Given the description of an element on the screen output the (x, y) to click on. 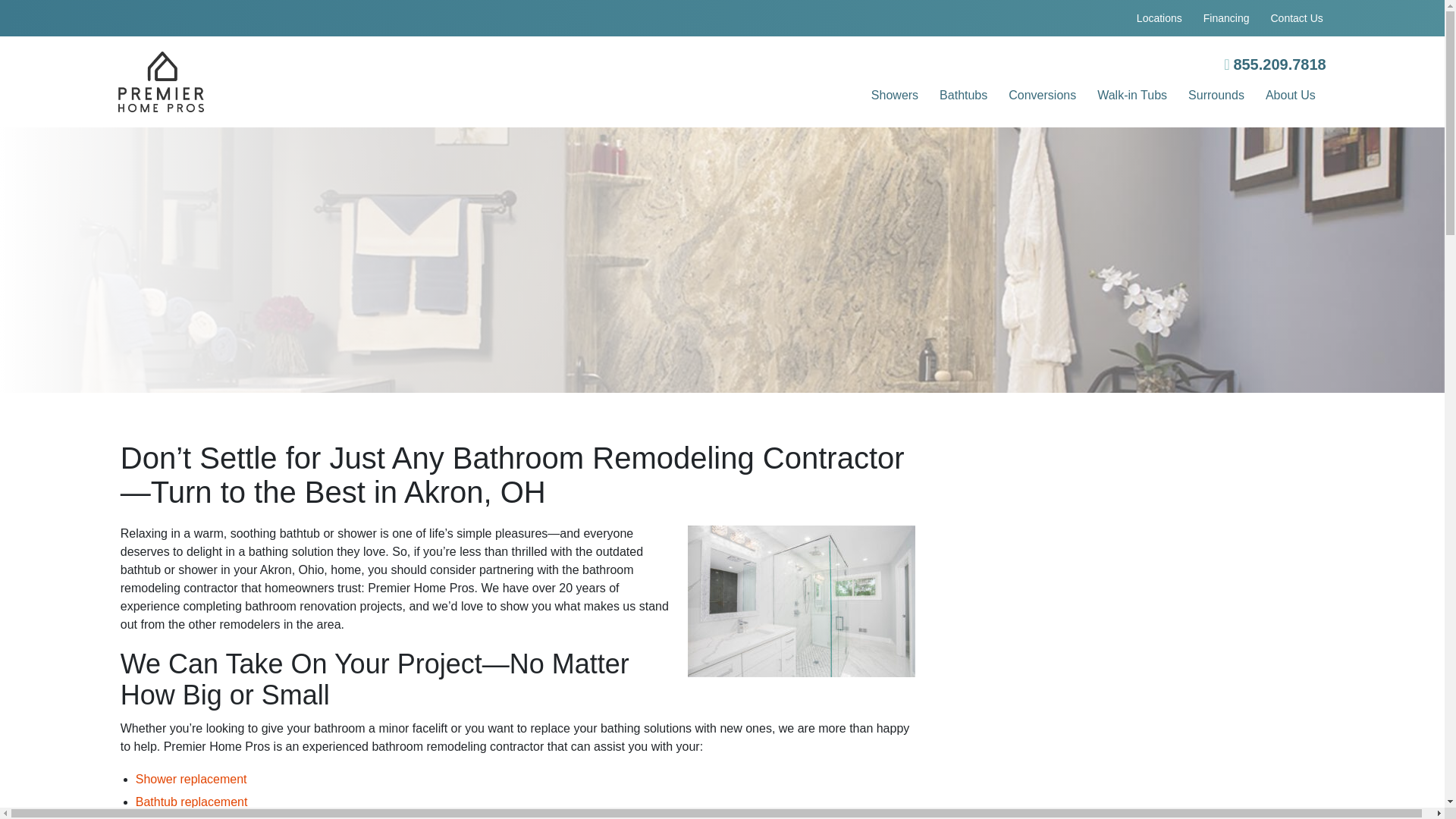
Surrounds (1216, 96)
Contact Us (1296, 18)
Premier Home Pros (319, 81)
Walk-in Tubs (1132, 96)
Showers (894, 96)
Submit (1131, 797)
Bathroom Remodeling Contractor Akron OH (801, 601)
Conversions (1042, 96)
Shower replacement (191, 779)
Locations (1158, 18)
